Given the description of an element on the screen output the (x, y) to click on. 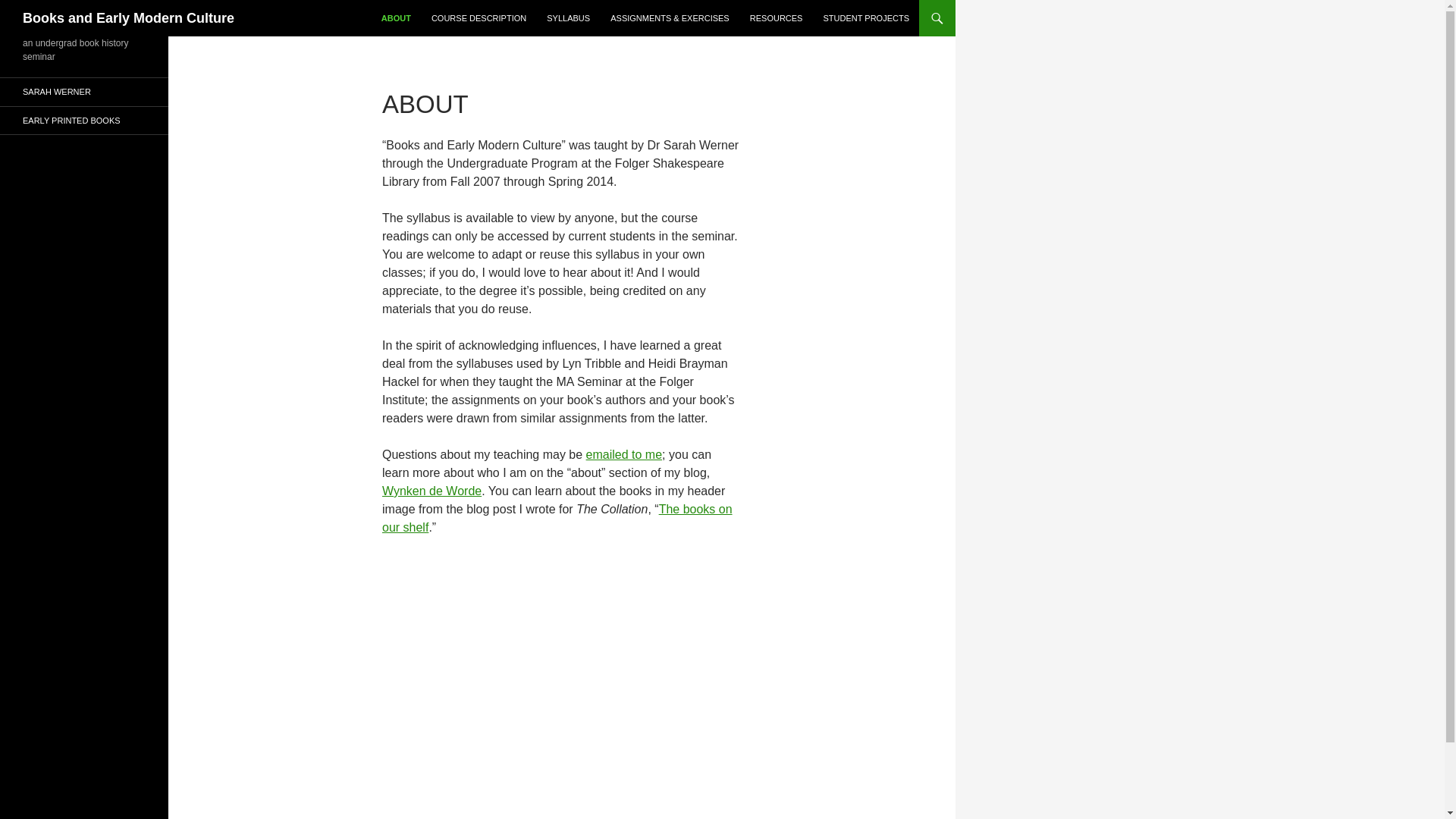
The books on our shelf (556, 517)
EARLY PRINTED BOOKS (84, 120)
SARAH WERNER (84, 91)
RESOURCES (776, 18)
Wynken de Worde (431, 490)
The books on our shelf (556, 517)
COURSE DESCRIPTION (478, 18)
STUDENT PROJECTS (865, 18)
ABOUT (396, 18)
Books and Early Modern Culture (128, 18)
SYLLABUS (567, 18)
emailed to me (624, 454)
